Given the description of an element on the screen output the (x, y) to click on. 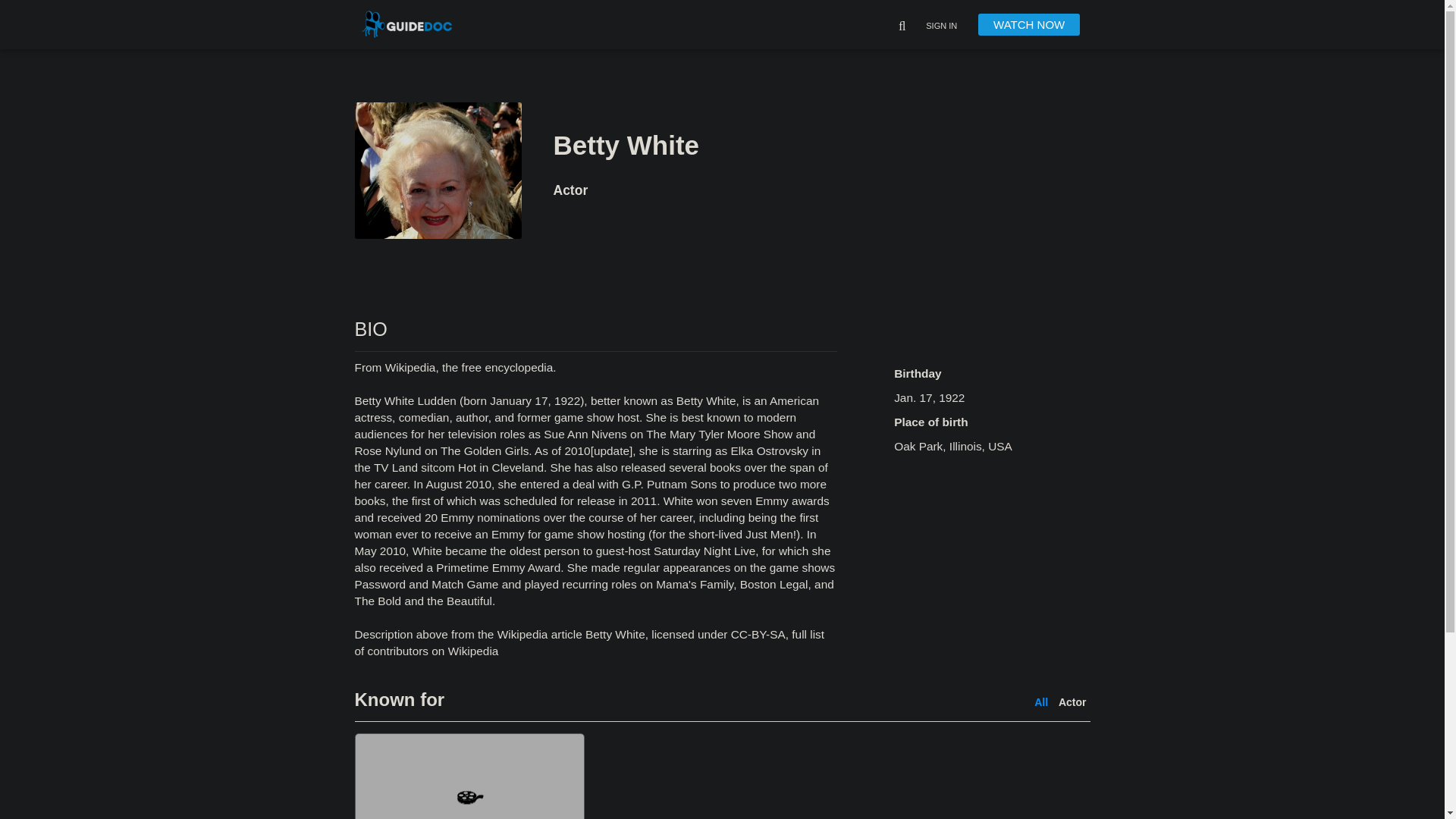
Actor (1072, 702)
WATCH NOW (1029, 24)
SIGN IN (941, 26)
All (1040, 702)
